Given the description of an element on the screen output the (x, y) to click on. 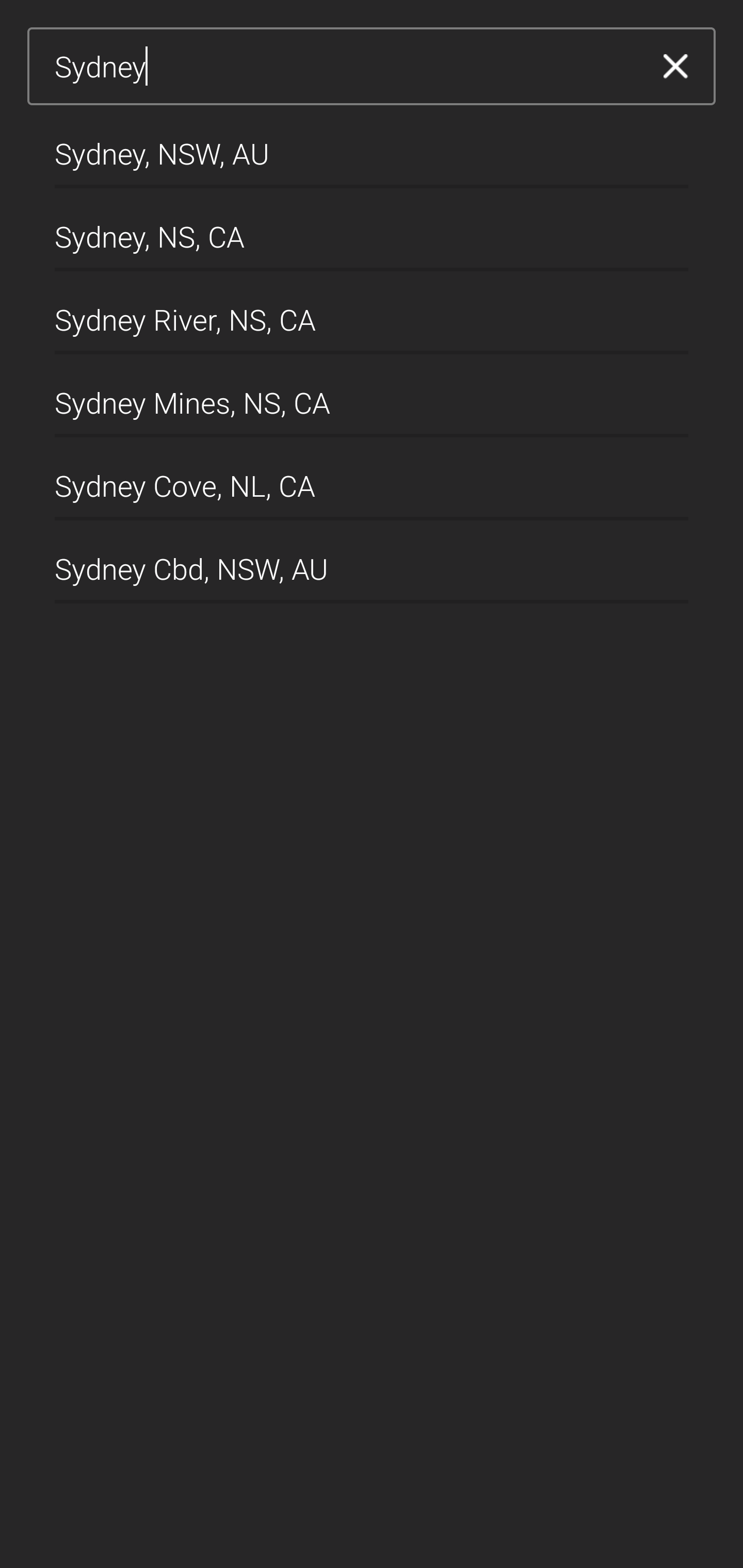
Sydney (345, 66)
Sydney, NSW, AU (371, 146)
Sydney, NS, CA (371, 229)
Sydney River, NS, CA (371, 312)
Sydney Mines, NS, CA (371, 395)
Sydney Cove, NL, CA (371, 478)
Sydney Cbd, NSW, AU (371, 561)
